Given the description of an element on the screen output the (x, y) to click on. 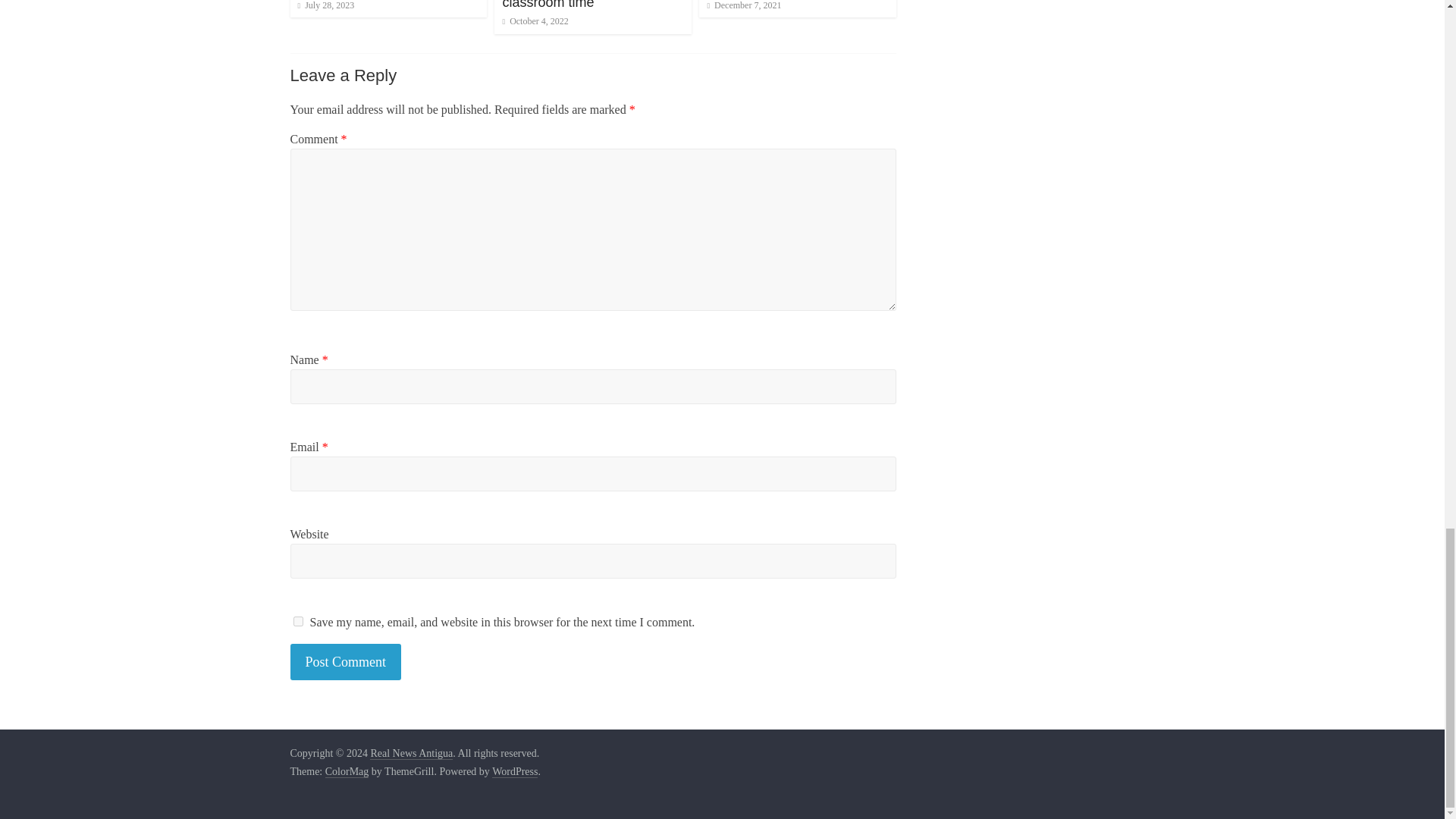
Post Comment (345, 661)
7:40 pm (325, 5)
yes (297, 621)
